Given the description of an element on the screen output the (x, y) to click on. 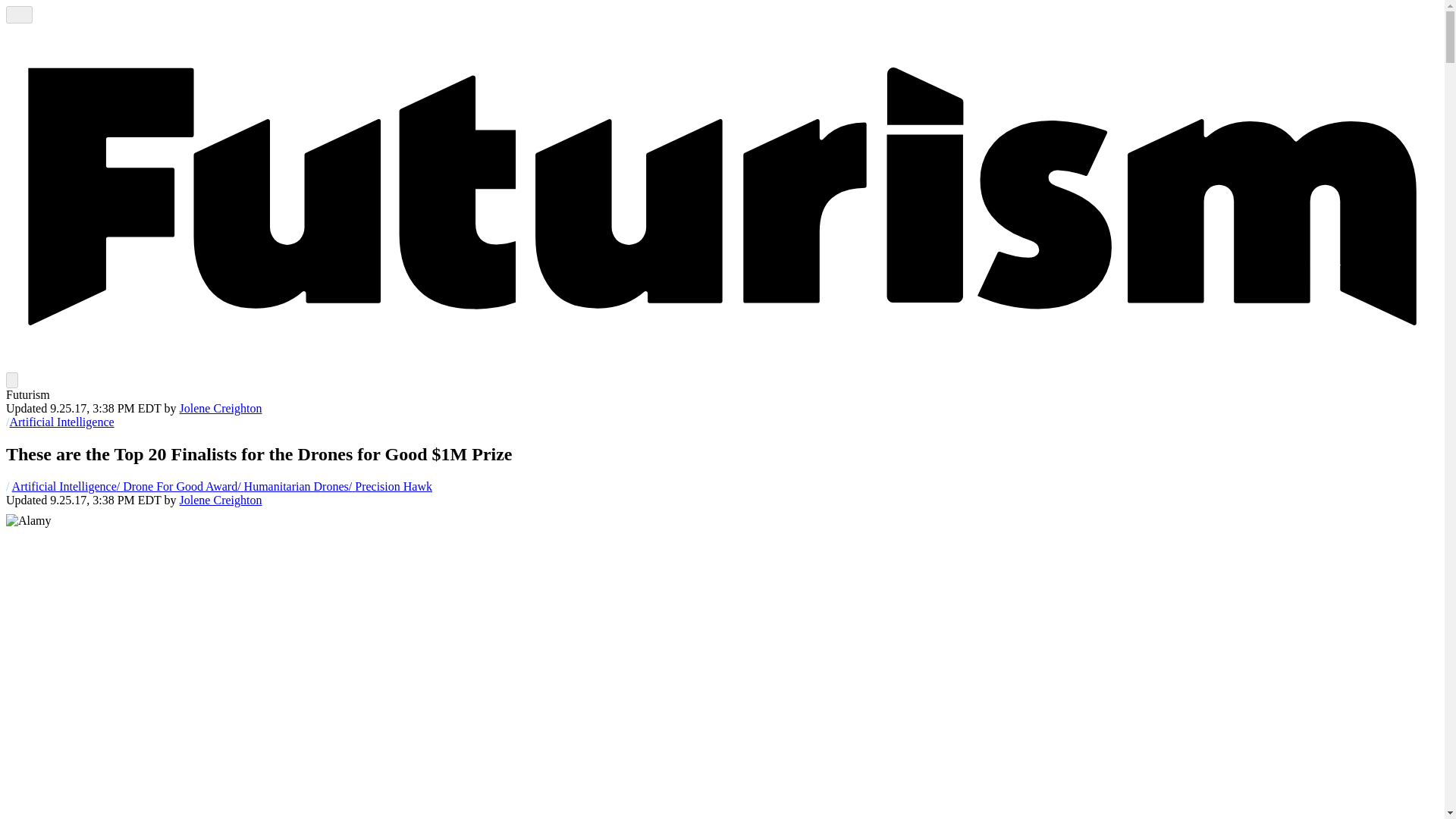
PrecisionHawk (390, 486)
Artificial Intelligence (63, 486)
Artificial Intelligence (60, 421)
Jolene Creighton (220, 499)
humanitarian drones (293, 486)
Drone for Good Award (176, 486)
Artificial Intelligence (60, 421)
Jolene Creighton (220, 499)
Jolene Creighton (220, 408)
